Given the description of an element on the screen output the (x, y) to click on. 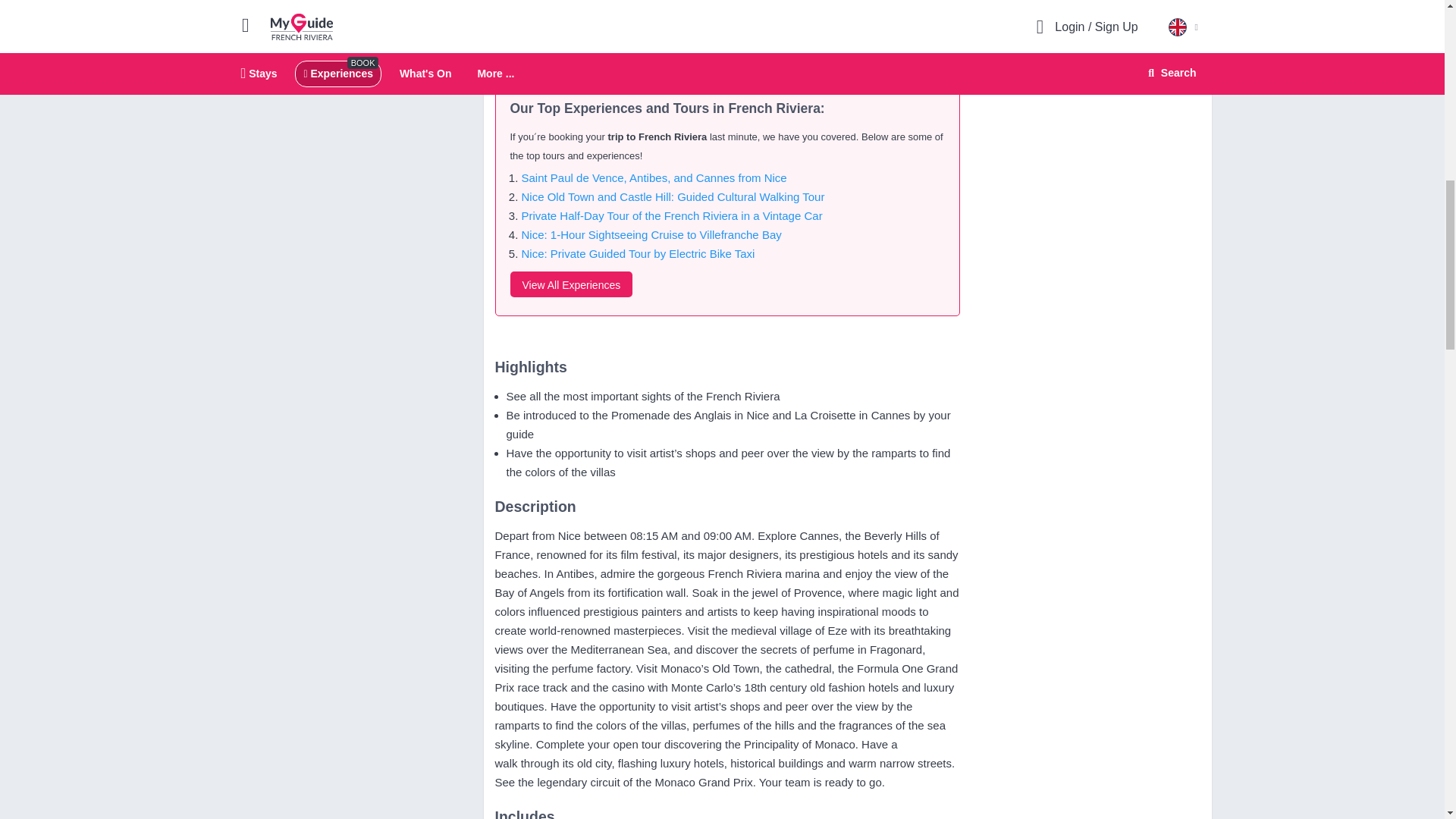
View All Experiences (570, 284)
GetYourGuide Widget (1087, 21)
